Given the description of an element on the screen output the (x, y) to click on. 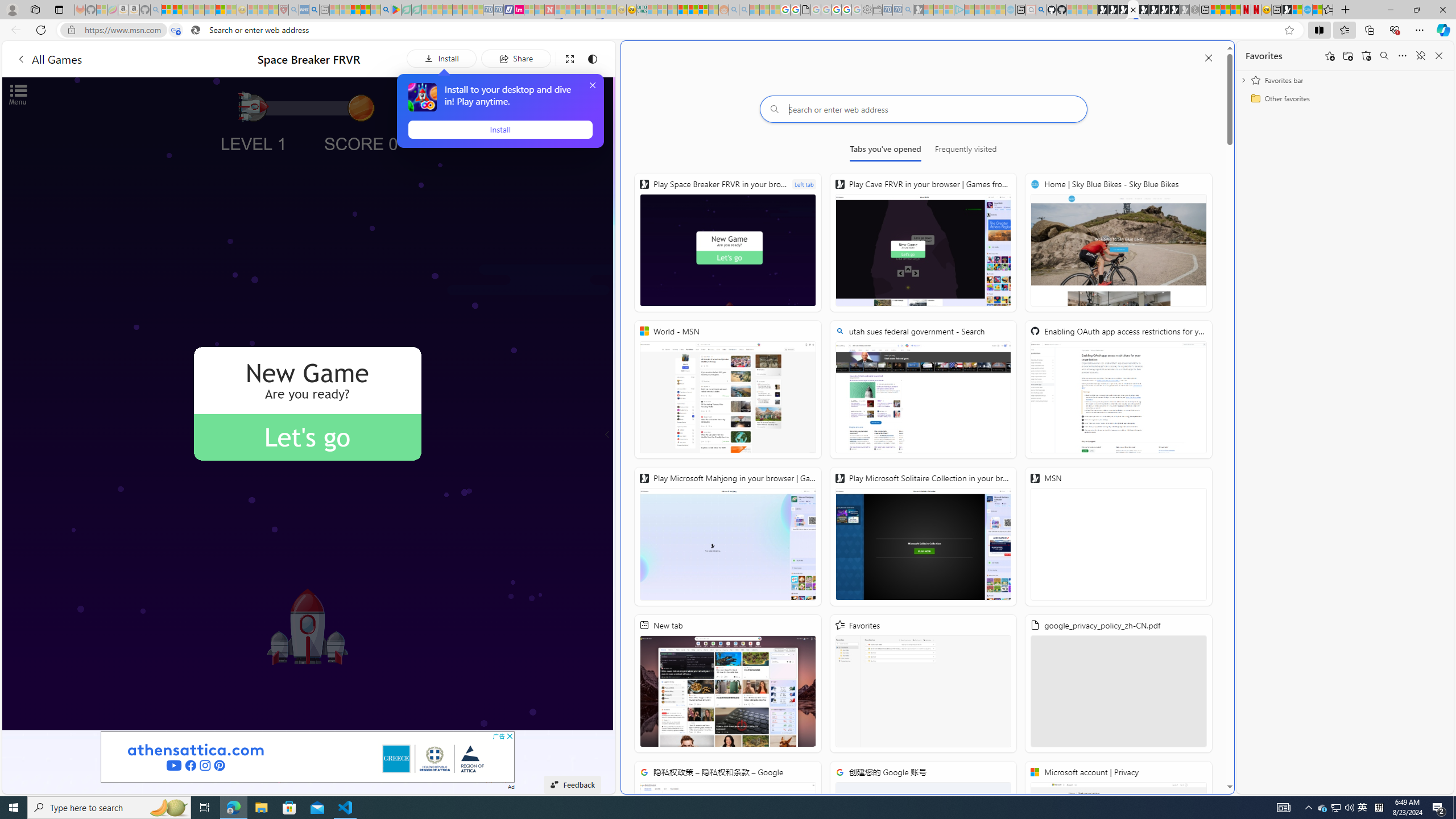
The Weather Channel - MSN - Sleeping (187, 9)
Add this page to favorites (1330, 55)
AutomationID: gameCanvas (307, 403)
Share (515, 58)
